Given the description of an element on the screen output the (x, y) to click on. 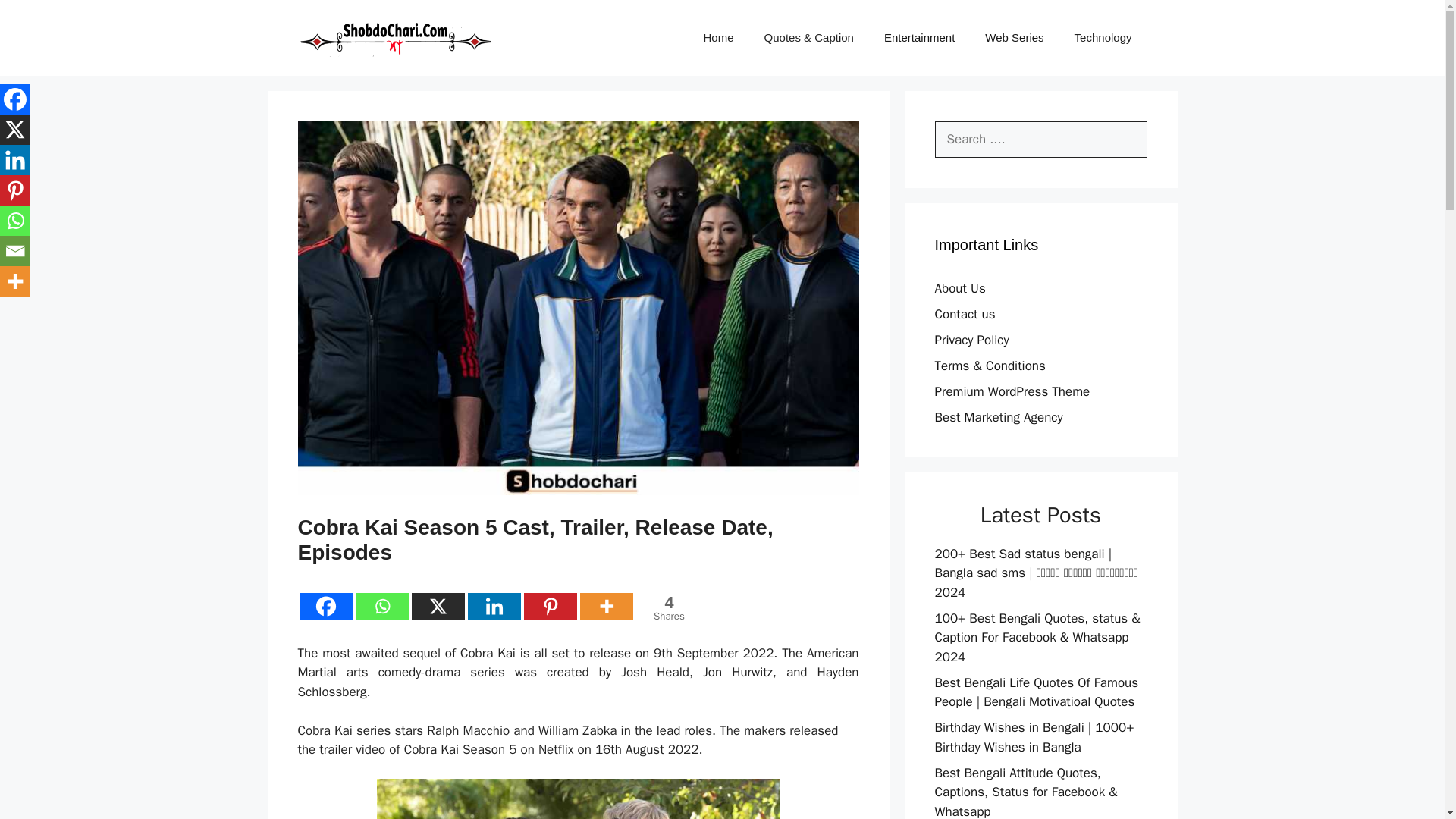
Linkedin (493, 605)
Pinterest (665, 607)
Home (549, 605)
Cobra Kai Season 5 Cast, Trailer, Release Date, Episodes 1 (718, 37)
Whatsapp (576, 798)
More (381, 605)
X (605, 605)
Facebook (437, 605)
